Given the description of an element on the screen output the (x, y) to click on. 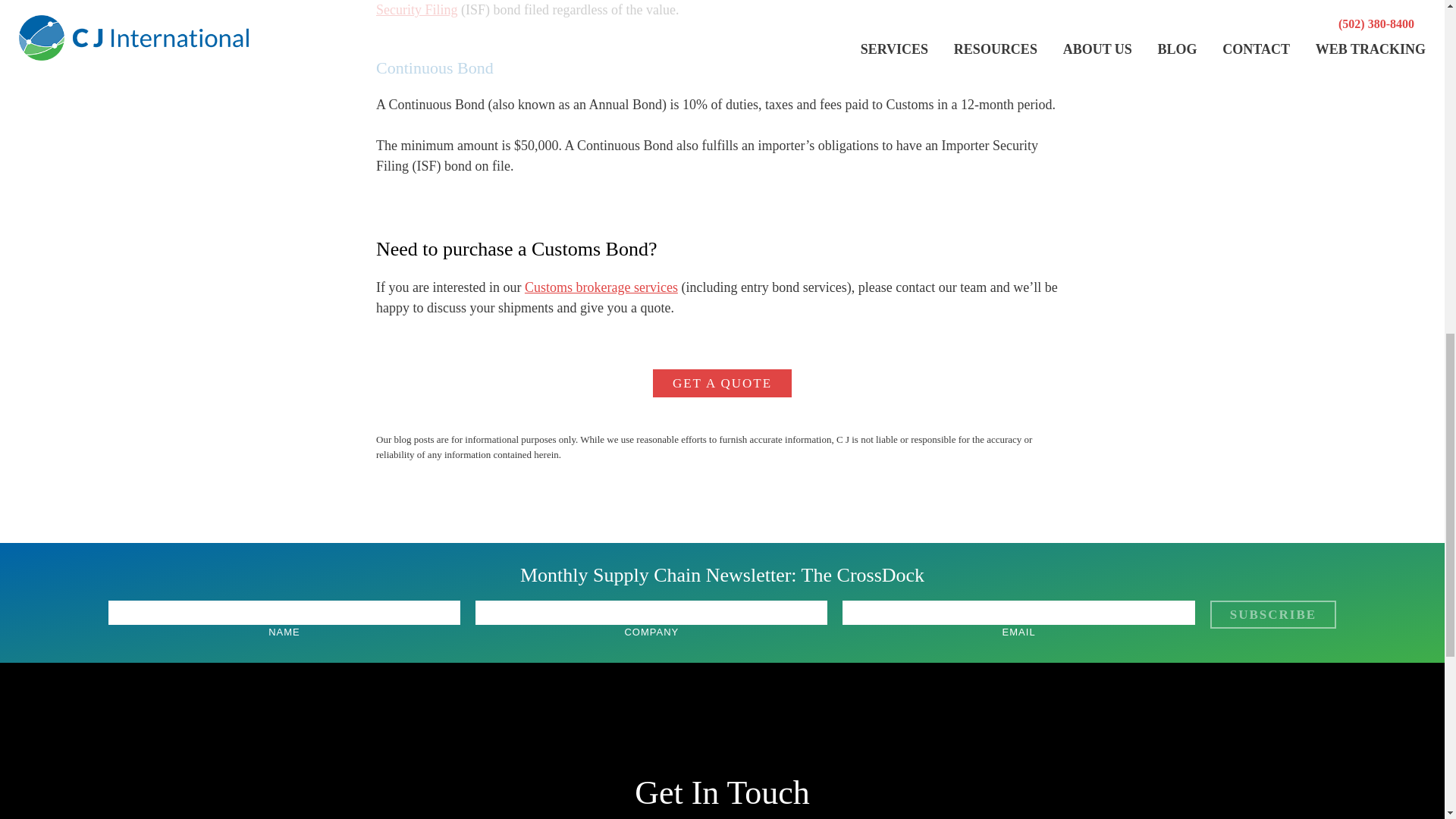
GET A QUOTE (722, 383)
Customs brokerage services (601, 286)
Importer Security Filing (714, 8)
SUBSCRIBE (1272, 614)
